Given the description of an element on the screen output the (x, y) to click on. 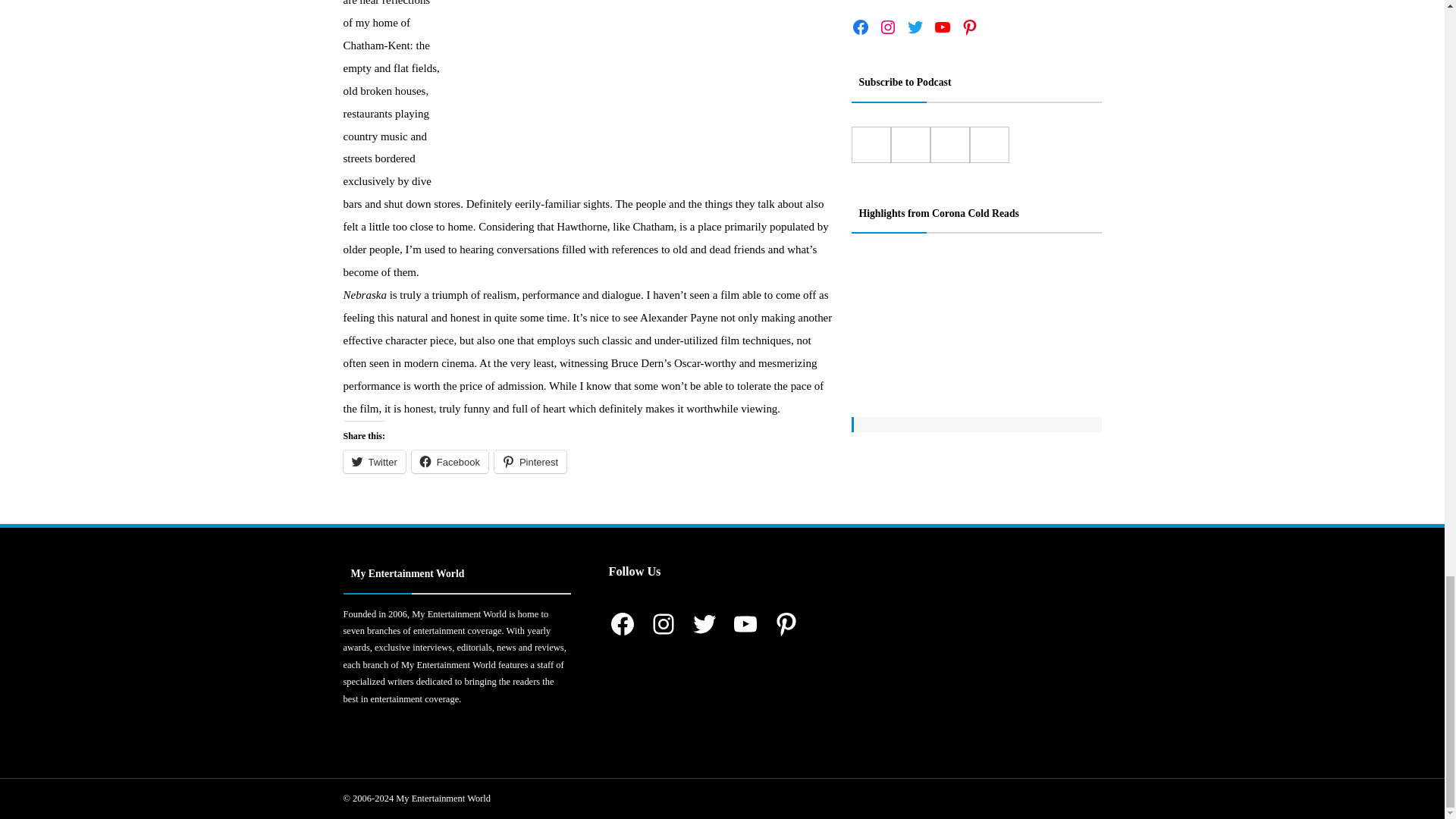
Click to share on Pinterest (530, 461)
Pinterest (530, 461)
Facebook (449, 461)
Click to share on Twitter (373, 461)
Twitter (373, 461)
Click to share on Facebook (449, 461)
